Given the description of an element on the screen output the (x, y) to click on. 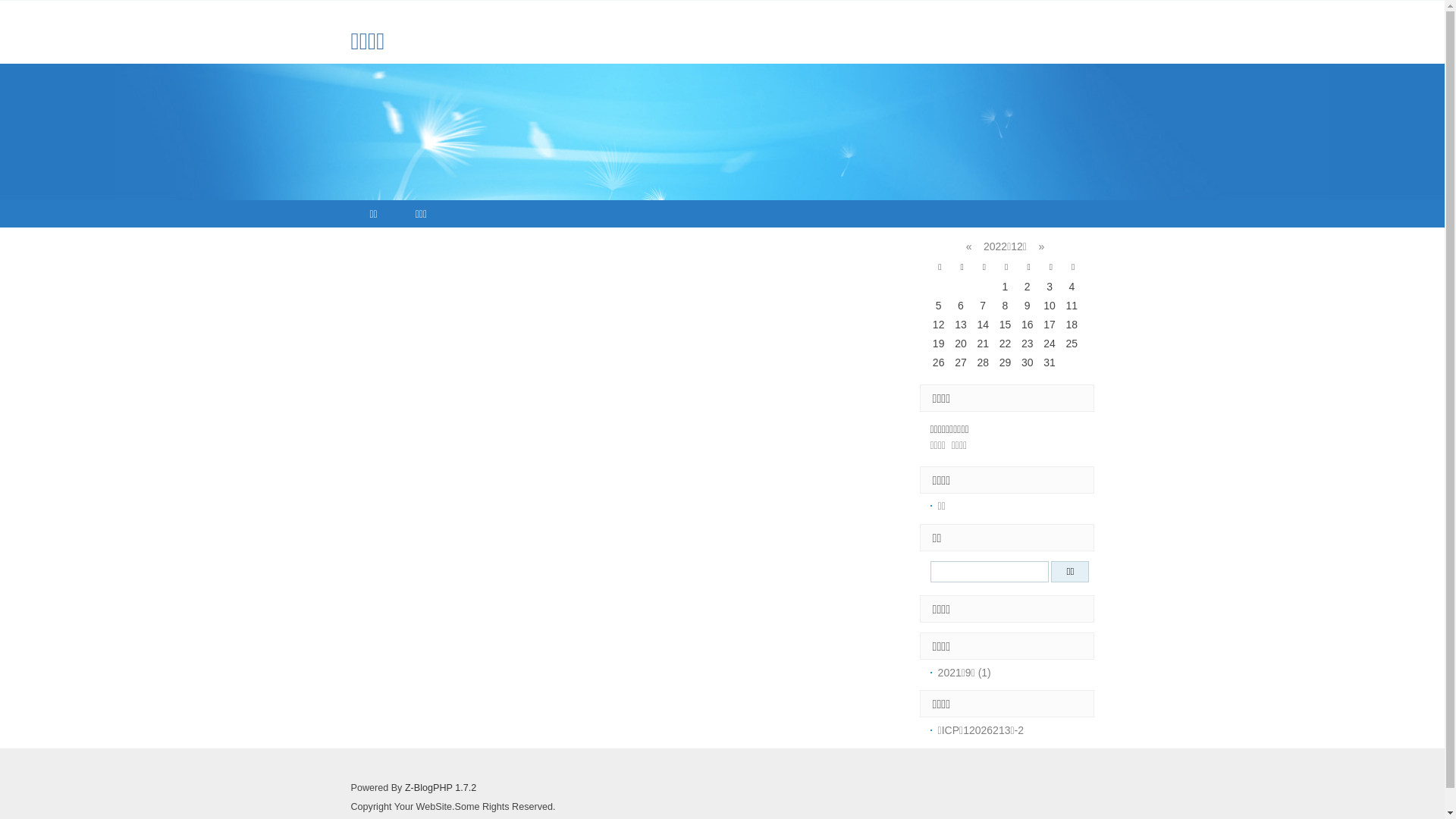
Z-BlogPHP 1.7.2 Element type: text (440, 787)
